Given the description of an element on the screen output the (x, y) to click on. 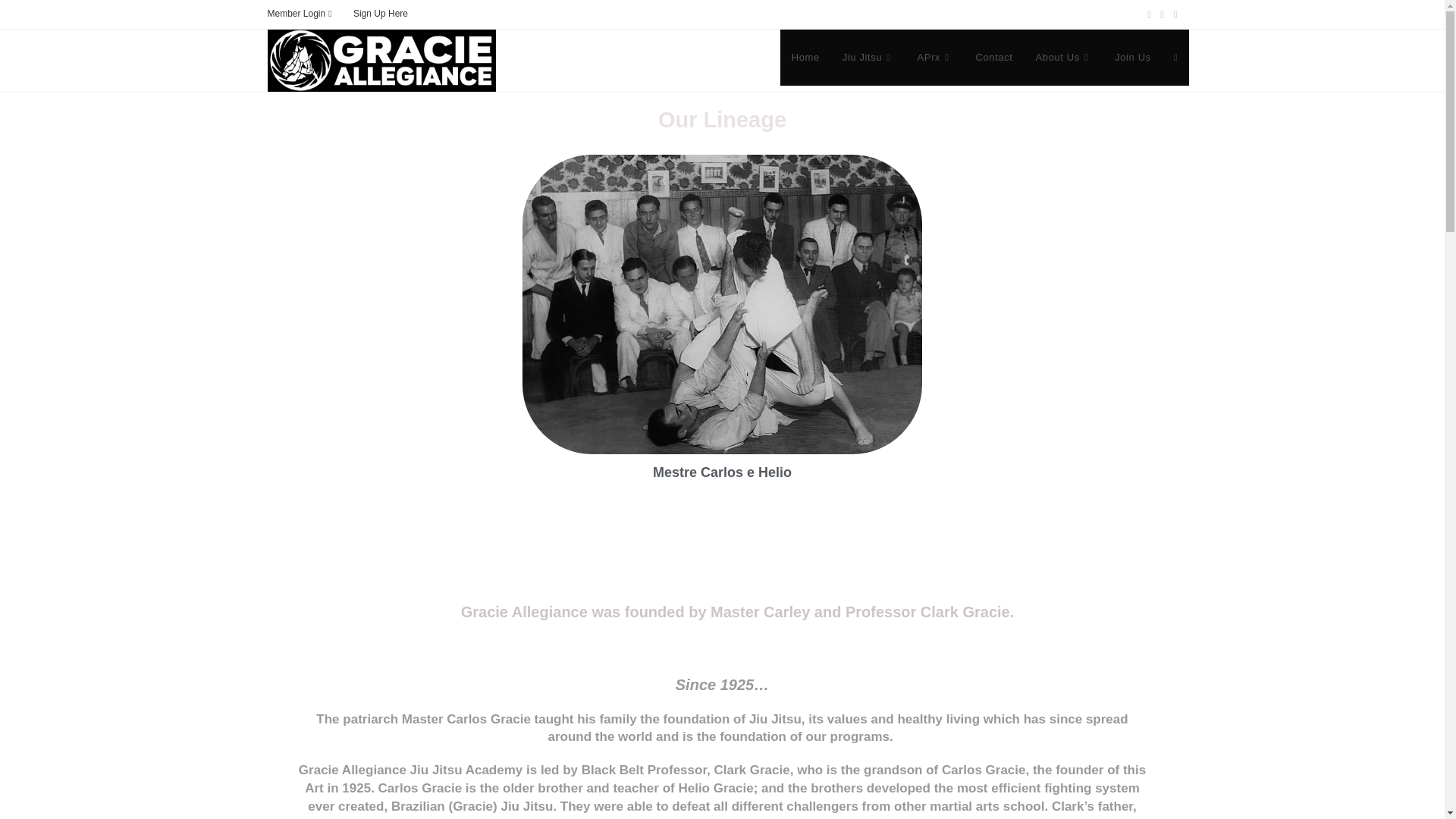
Member Login (300, 13)
Join Us (1132, 57)
About Us (1064, 57)
Sign Up Here (380, 13)
Contact (994, 57)
Jiu Jitsu (868, 57)
APrx (934, 57)
Home (805, 57)
